Given the description of an element on the screen output the (x, y) to click on. 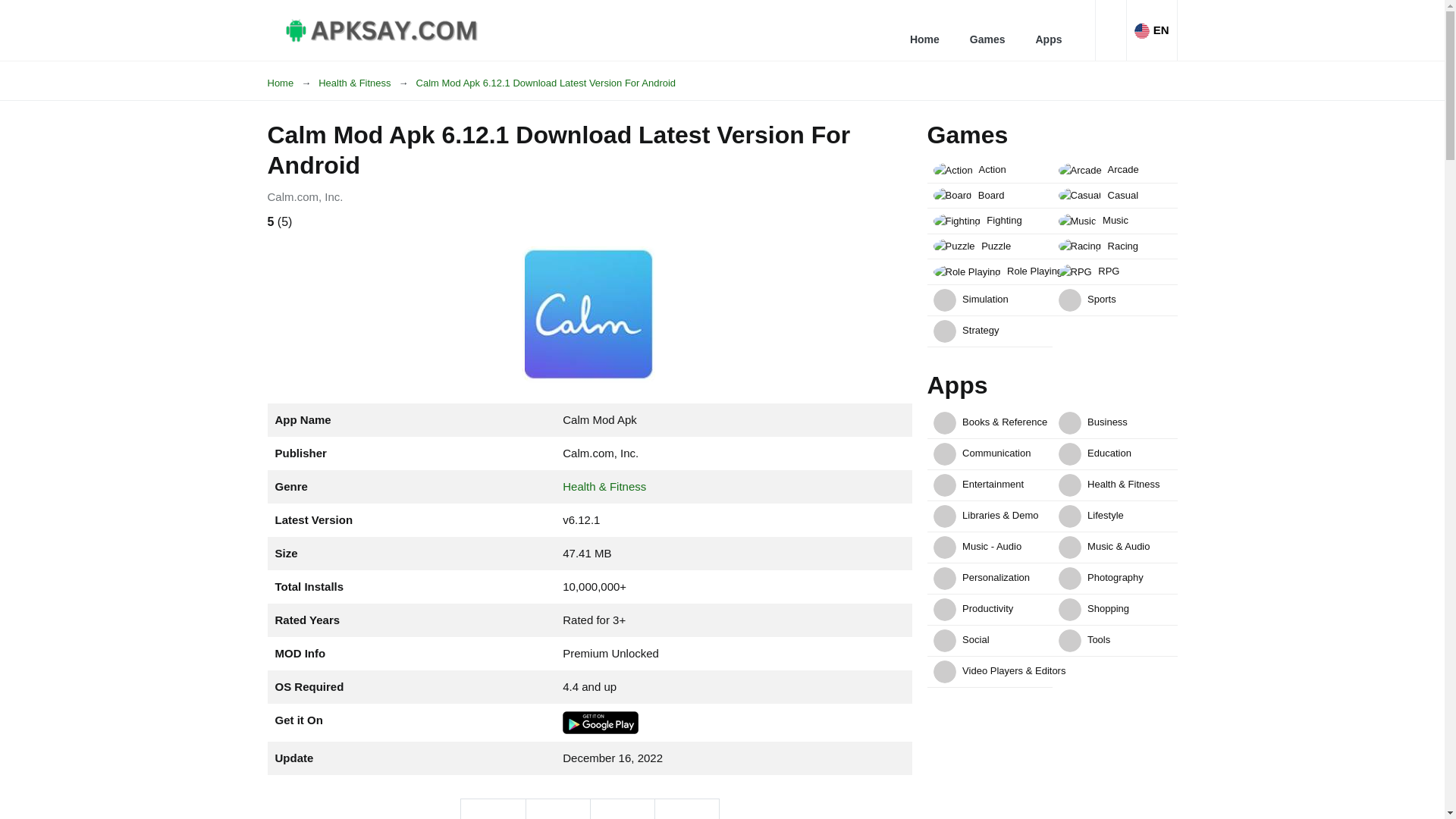
Calm Mod Apk 6.12.1 Download Latest Version For Android (546, 83)
Home (925, 30)
Apps (1048, 30)
Share on Facebook (493, 809)
Search... (1109, 30)
Home (292, 83)
Games (987, 30)
Share on Telegram (621, 809)
Share on Whatsapp (685, 809)
Tweet this (556, 809)
